Given the description of an element on the screen output the (x, y) to click on. 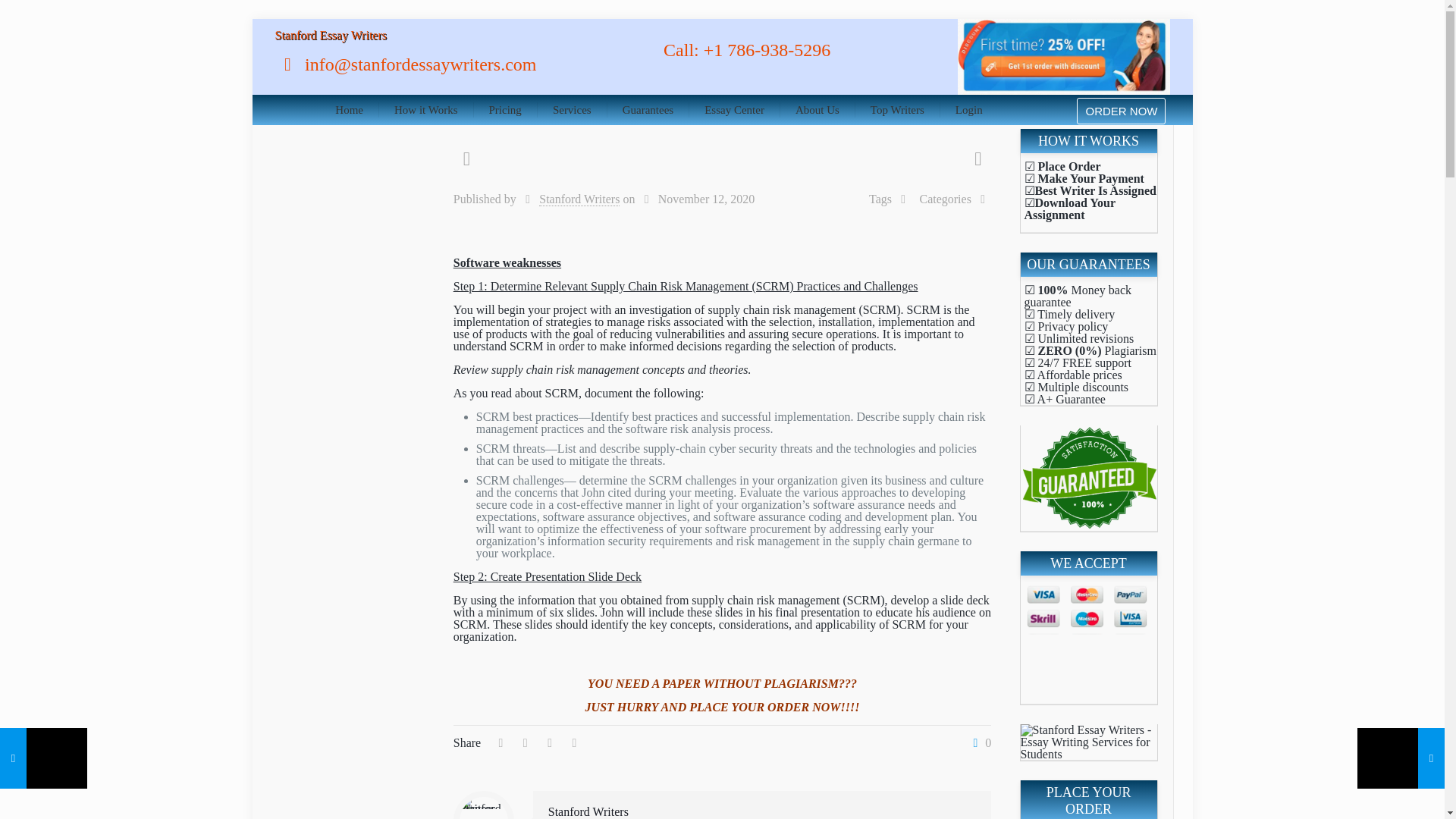
Stanford Essay Writers (330, 34)
Top Writers (898, 110)
ORDER NOW (1121, 110)
About Us (818, 110)
Home (349, 110)
Services (572, 110)
Guarantees (647, 110)
Essay Center (734, 110)
Login (968, 110)
How it Works (426, 110)
